Given the description of an element on the screen output the (x, y) to click on. 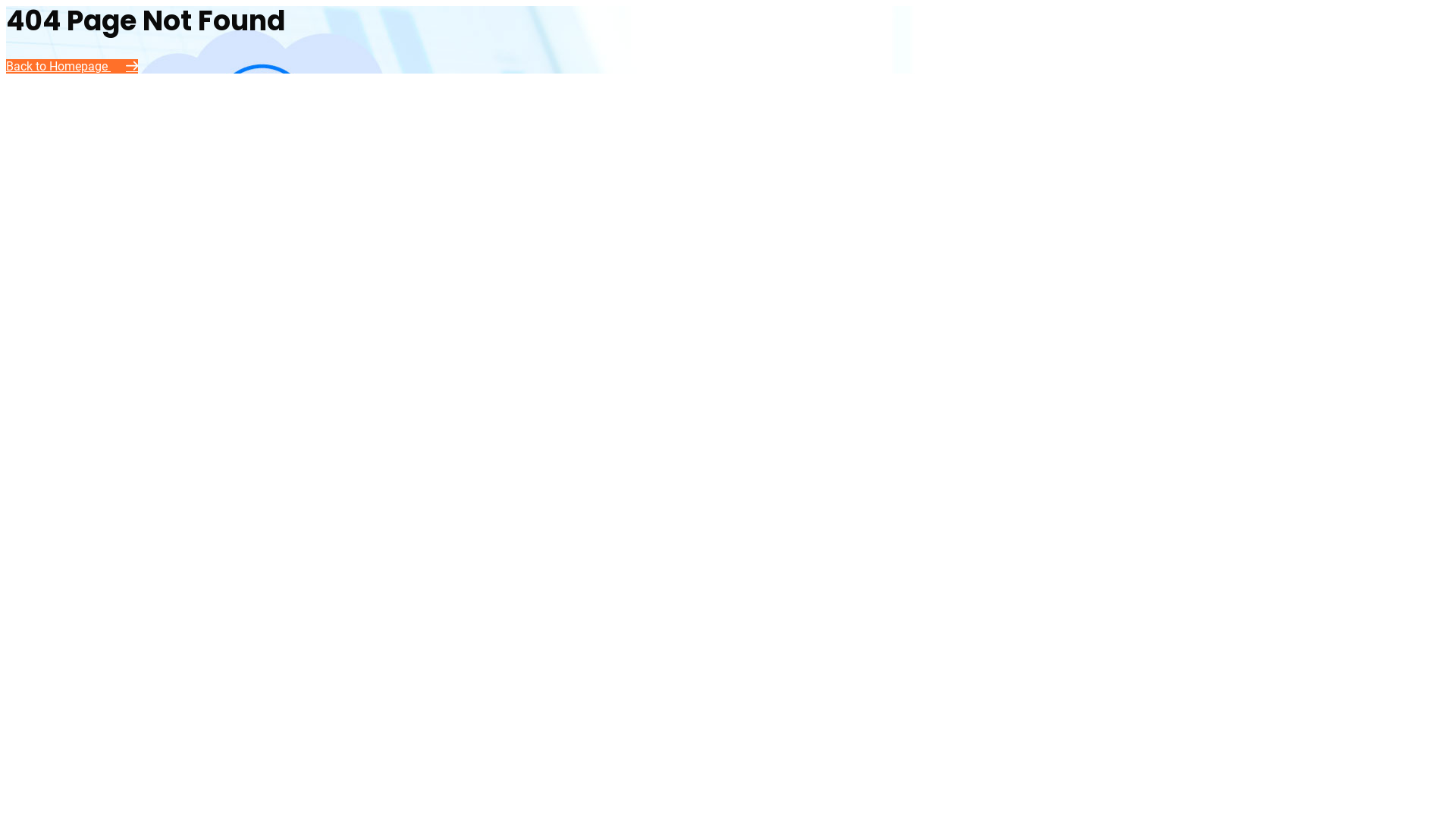
Back to Homepage Element type: text (72, 66)
